Given the description of an element on the screen output the (x, y) to click on. 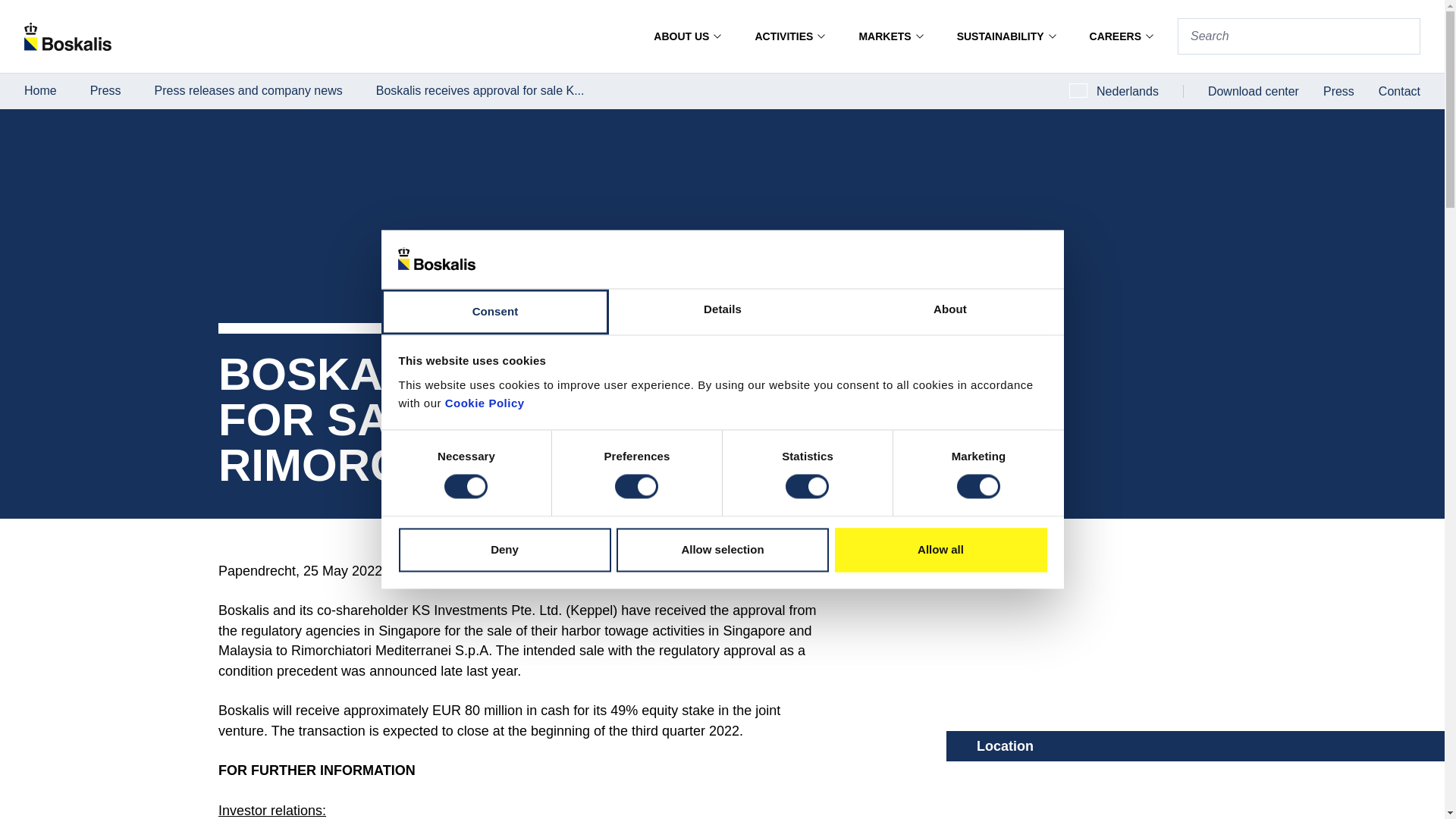
Allow selection (721, 549)
Details (721, 311)
About (948, 311)
Allow all (940, 549)
Cookie Policy (484, 402)
Consent (494, 311)
Deny (503, 549)
